Given the description of an element on the screen output the (x, y) to click on. 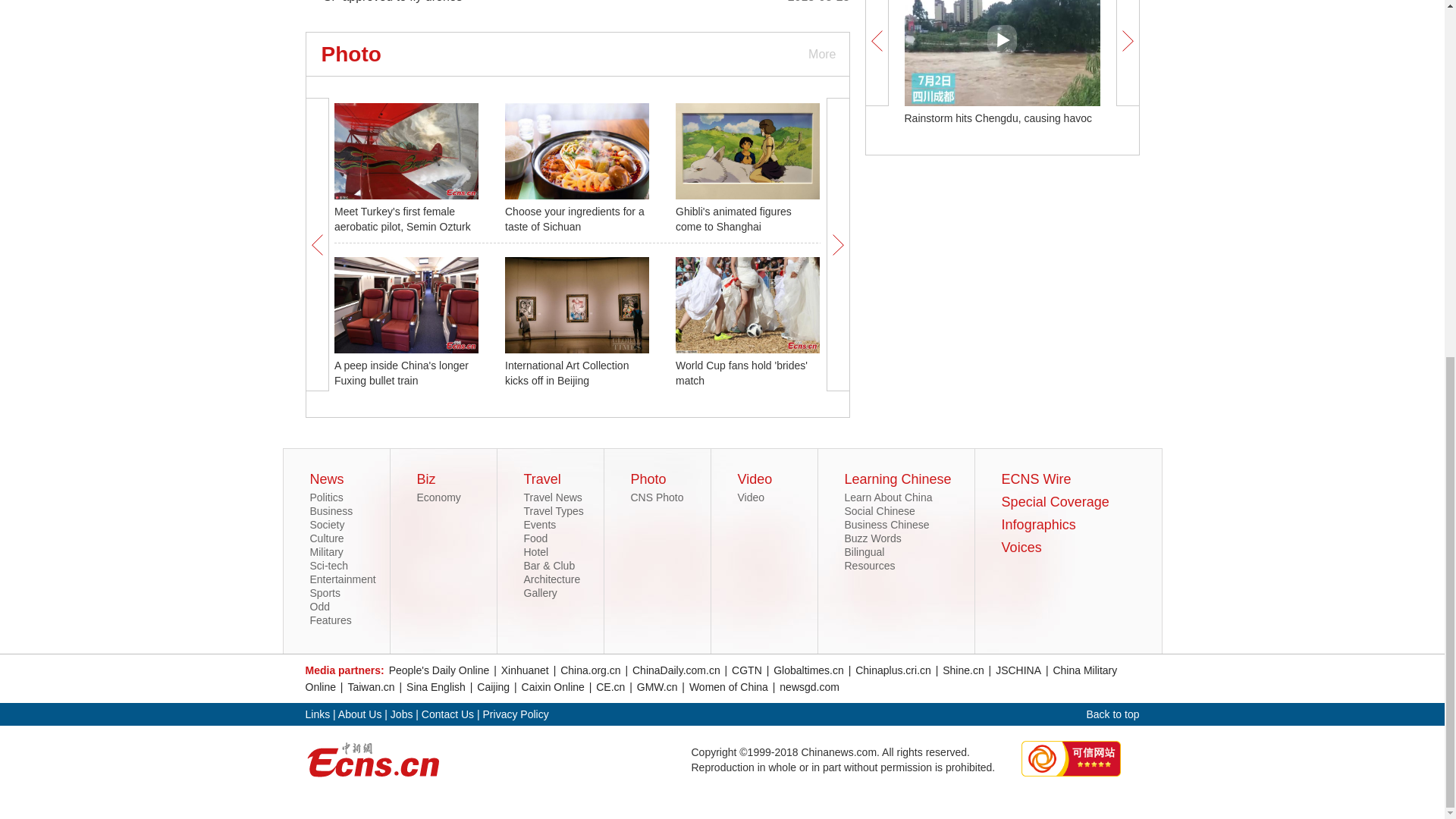
Meet Turkey's first female aerobatic pilot, Semin Ozturk (402, 218)
International Art Collection kicks off in Beijing (566, 372)
Choose your ingredients for a taste of Sichuan (575, 218)
Ghibli's animated figures come to Shanghai (733, 218)
SF approved to fly drones (392, 1)
A peep inside China's longer Fuxing bullet train (401, 372)
